Given the description of an element on the screen output the (x, y) to click on. 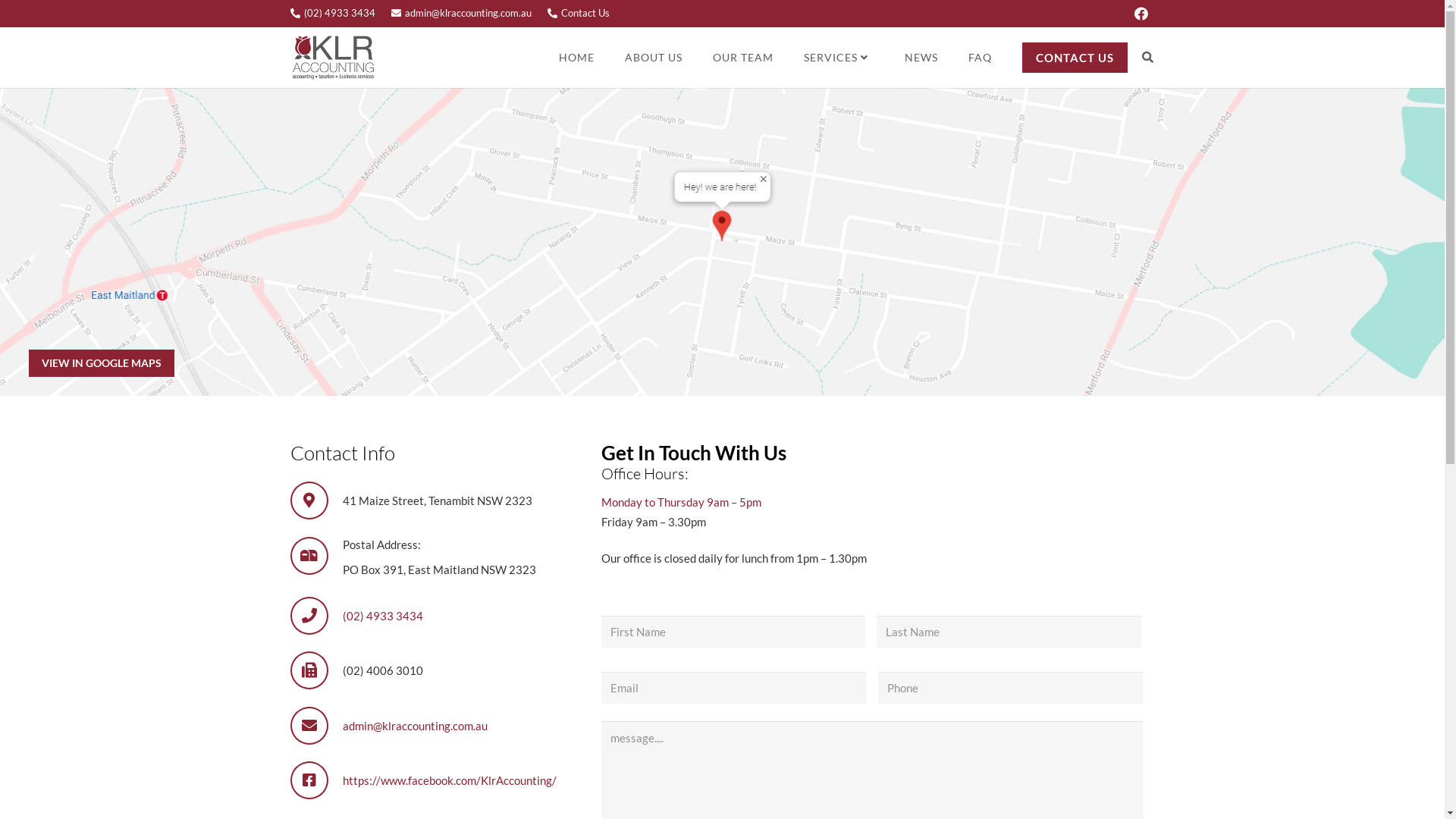
(02) 4933 3434 Element type: text (382, 615)
admin@klraccounting.com.au Element type: text (461, 12)
https://www.facebook.com/KlrAccounting/ Element type: text (449, 780)
admin@klraccounting.com.au Element type: text (414, 725)
OUR TEAM Element type: text (742, 57)
HOME Element type: text (576, 57)
Facebook Element type: hover (1140, 13)
NEWS Element type: text (921, 57)
VIEW IN GOOGLE MAPS Element type: text (101, 362)
FAQ Element type: text (980, 57)
Contact Us Element type: text (578, 12)
CONTACT US Element type: text (1074, 57)
SERVICES Element type: text (838, 57)
ABOUT US Element type: text (653, 57)
